Given the description of an element on the screen output the (x, y) to click on. 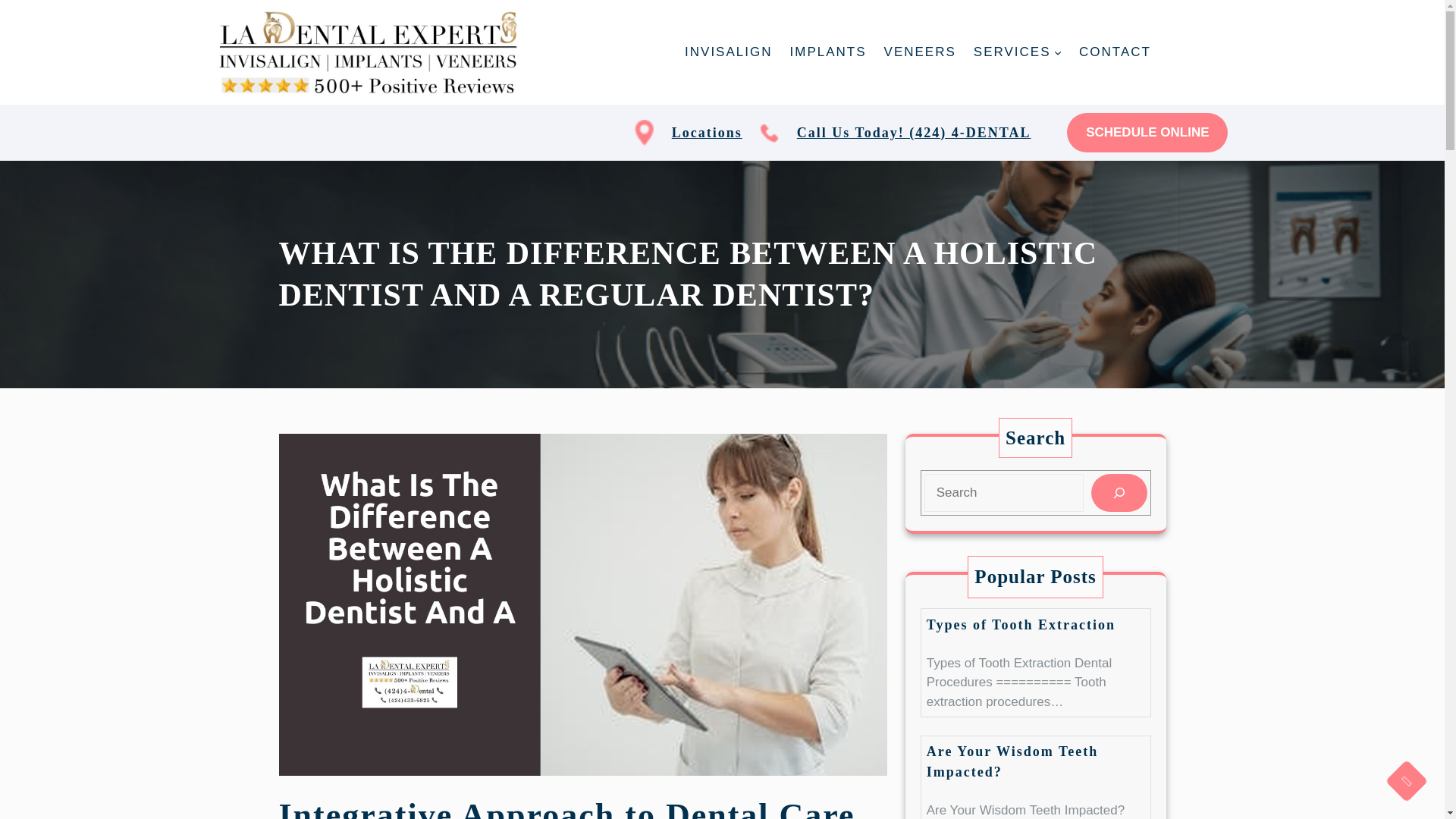
INVISALIGN (727, 52)
SERVICES (1012, 52)
IMPLANTS (828, 52)
VENEERS (919, 52)
